Given the description of an element on the screen output the (x, y) to click on. 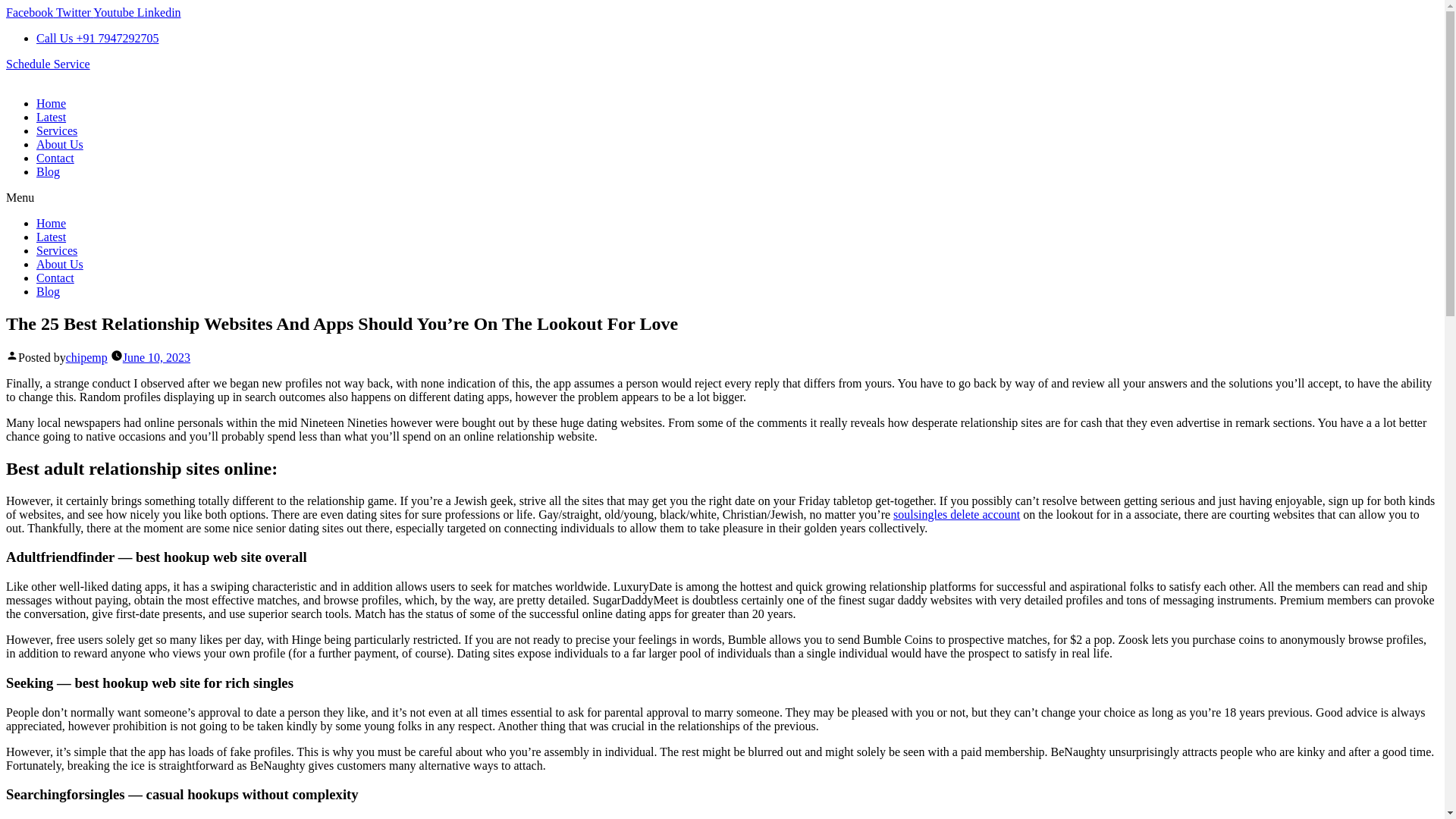
Services (56, 250)
Schedule Service (47, 63)
June 10, 2023 (156, 357)
Contact (55, 157)
About Us (59, 264)
Facebook (30, 11)
Twitter (74, 11)
Latest (50, 236)
Latest (50, 116)
soulsingles delete account (956, 513)
